Given the description of an element on the screen output the (x, y) to click on. 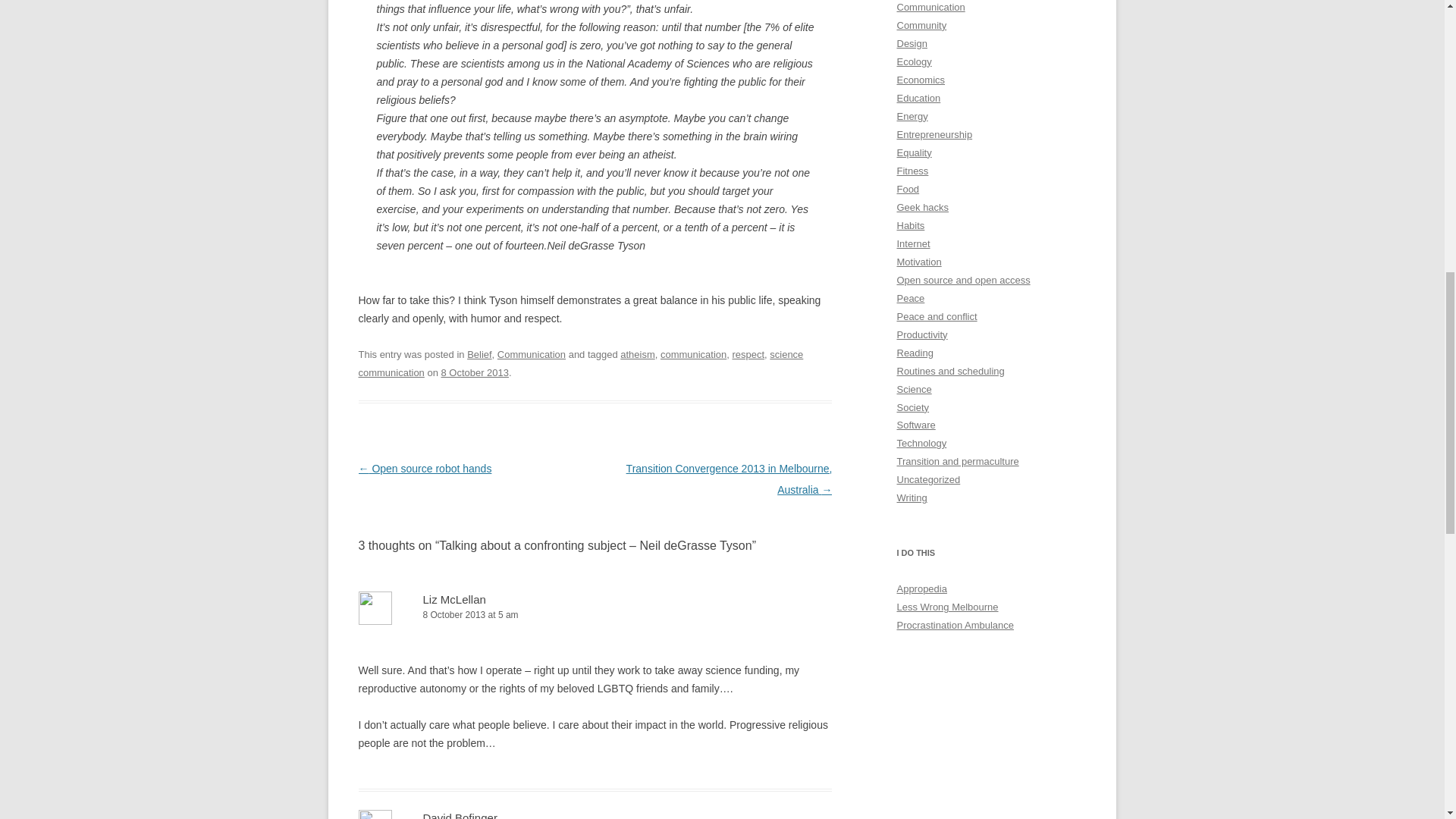
8 October 2013 at 5 am (594, 615)
Belief (479, 354)
respect (748, 354)
science communication (580, 363)
Wiki for sustainable solutions (921, 588)
5 am (475, 372)
8 October 2013 (475, 372)
Communication (929, 7)
Design (911, 43)
